Given the description of an element on the screen output the (x, y) to click on. 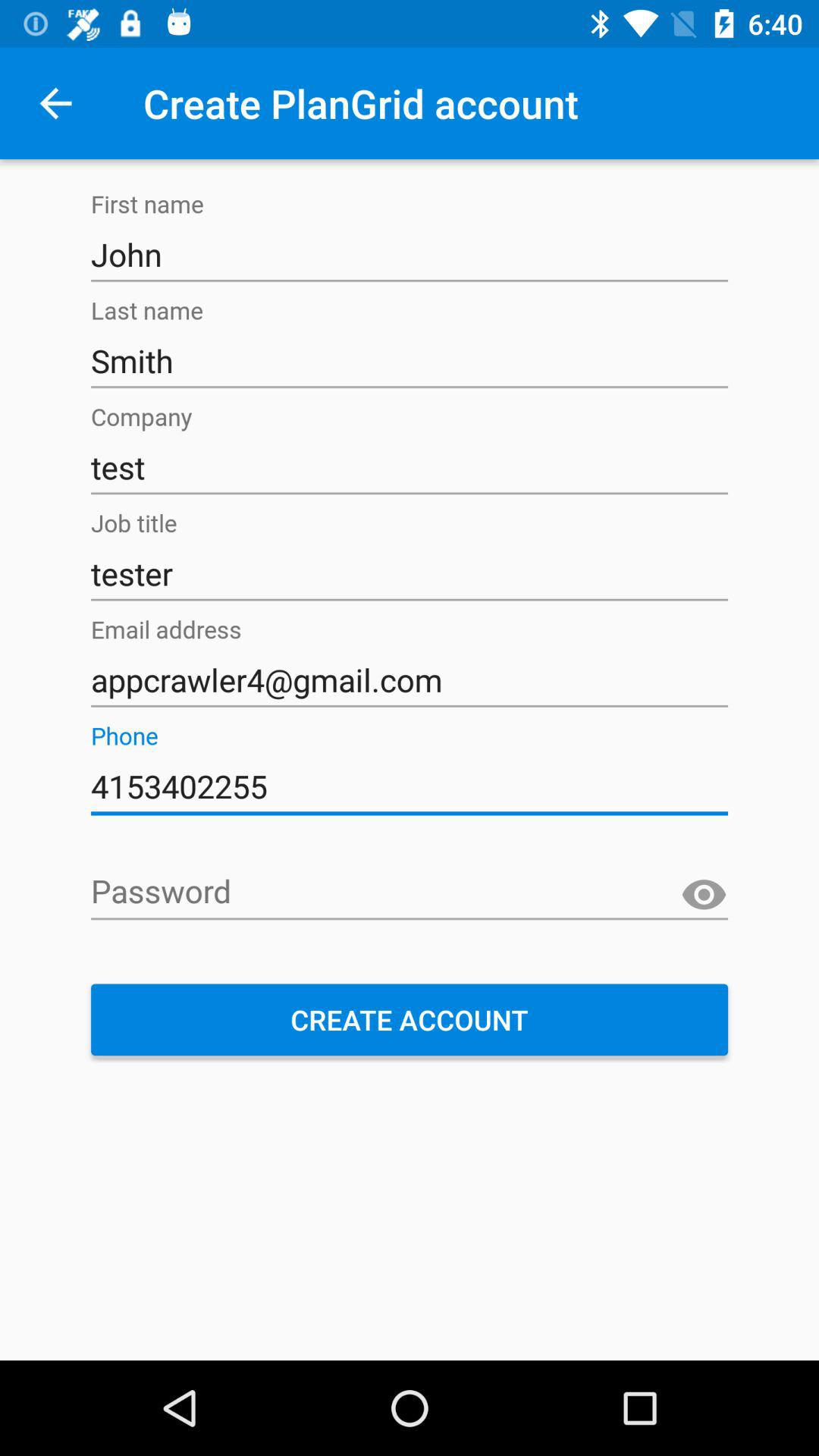
enter your password for plangrid (409, 892)
